Given the description of an element on the screen output the (x, y) to click on. 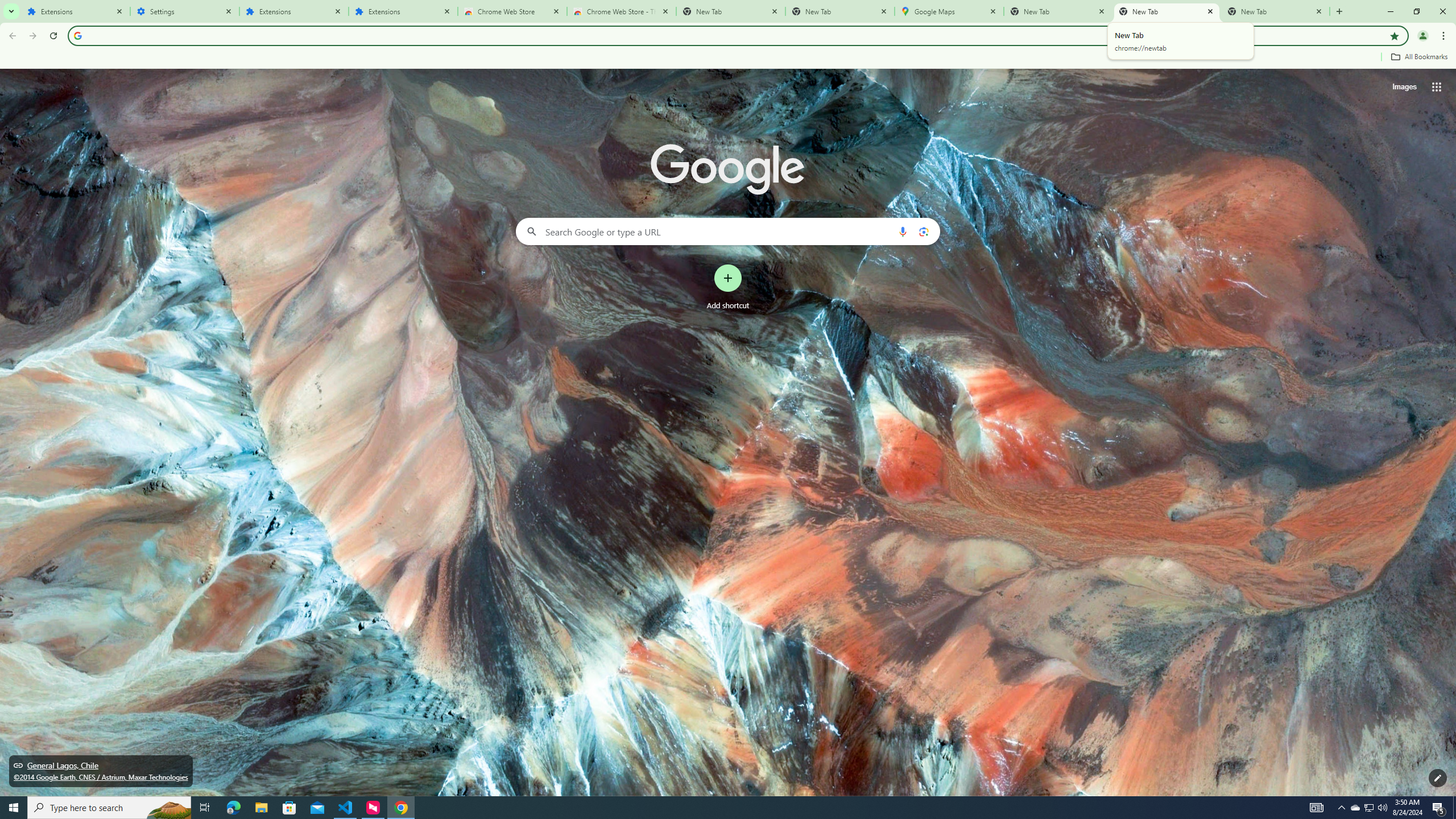
Google Maps (949, 11)
Chrome Web Store - Themes (621, 11)
Bookmarks (728, 58)
